Given the description of an element on the screen output the (x, y) to click on. 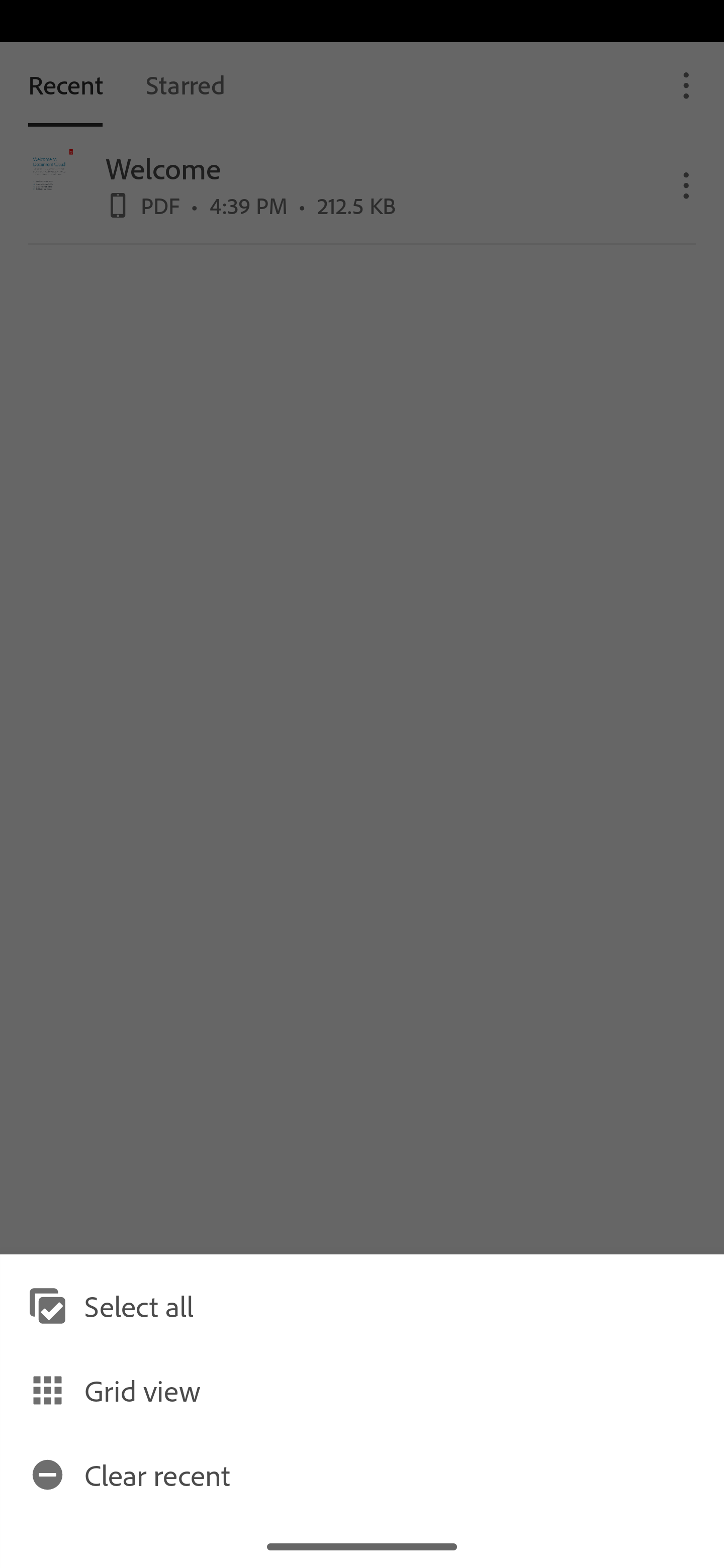
Select all (362, 1305)
Grid view (362, 1389)
Clear recent (362, 1473)
